Given the description of an element on the screen output the (x, y) to click on. 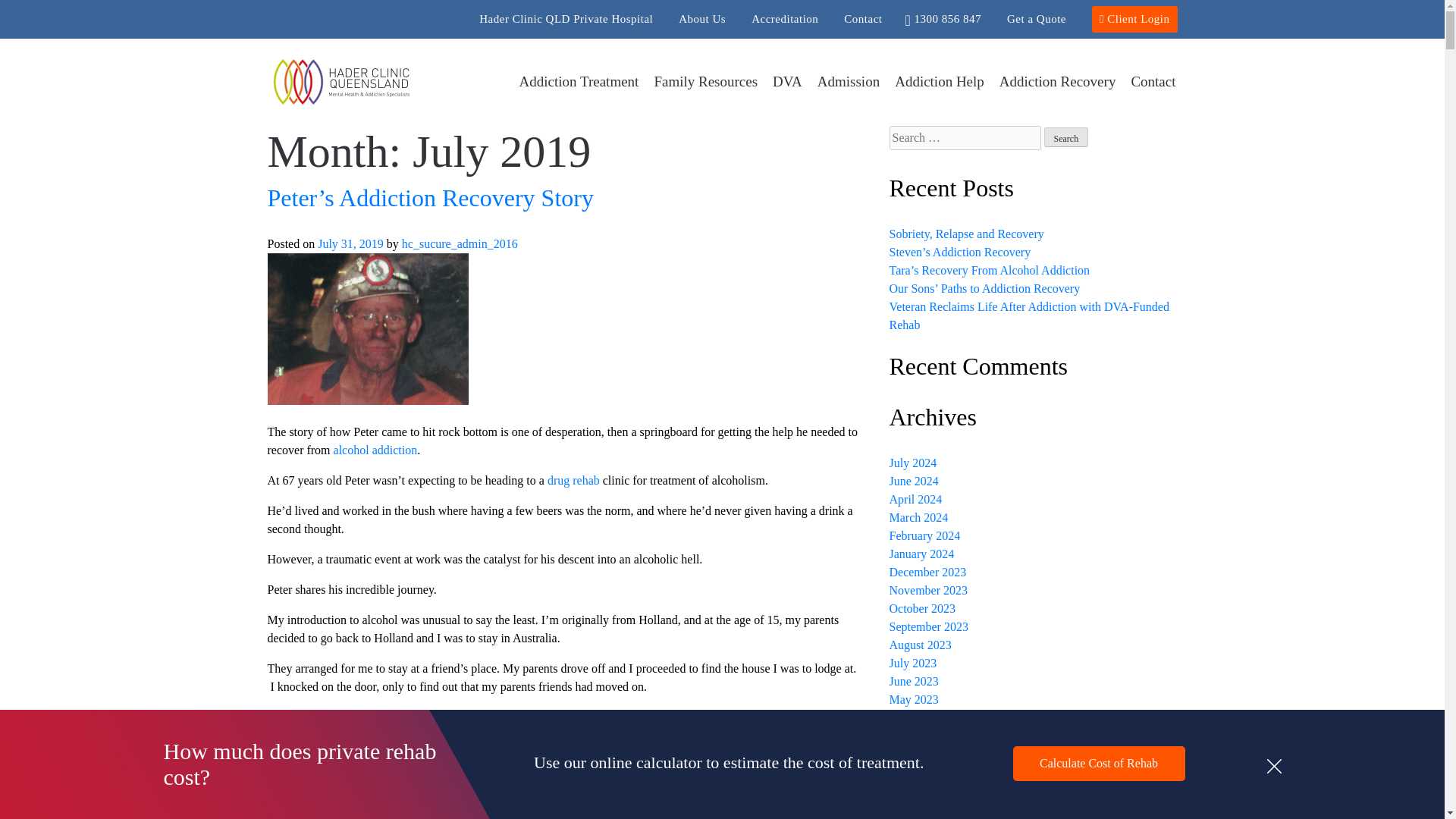
Addiction Treatment (579, 86)
Client Login (1134, 18)
Accreditation (784, 19)
Contact (863, 19)
Get a Quote (1036, 19)
Search (1065, 137)
About Us (701, 19)
1300 856 847 (942, 19)
Search (1065, 137)
Hader Clinic QLD Private Hospital (565, 19)
